Given the description of an element on the screen output the (x, y) to click on. 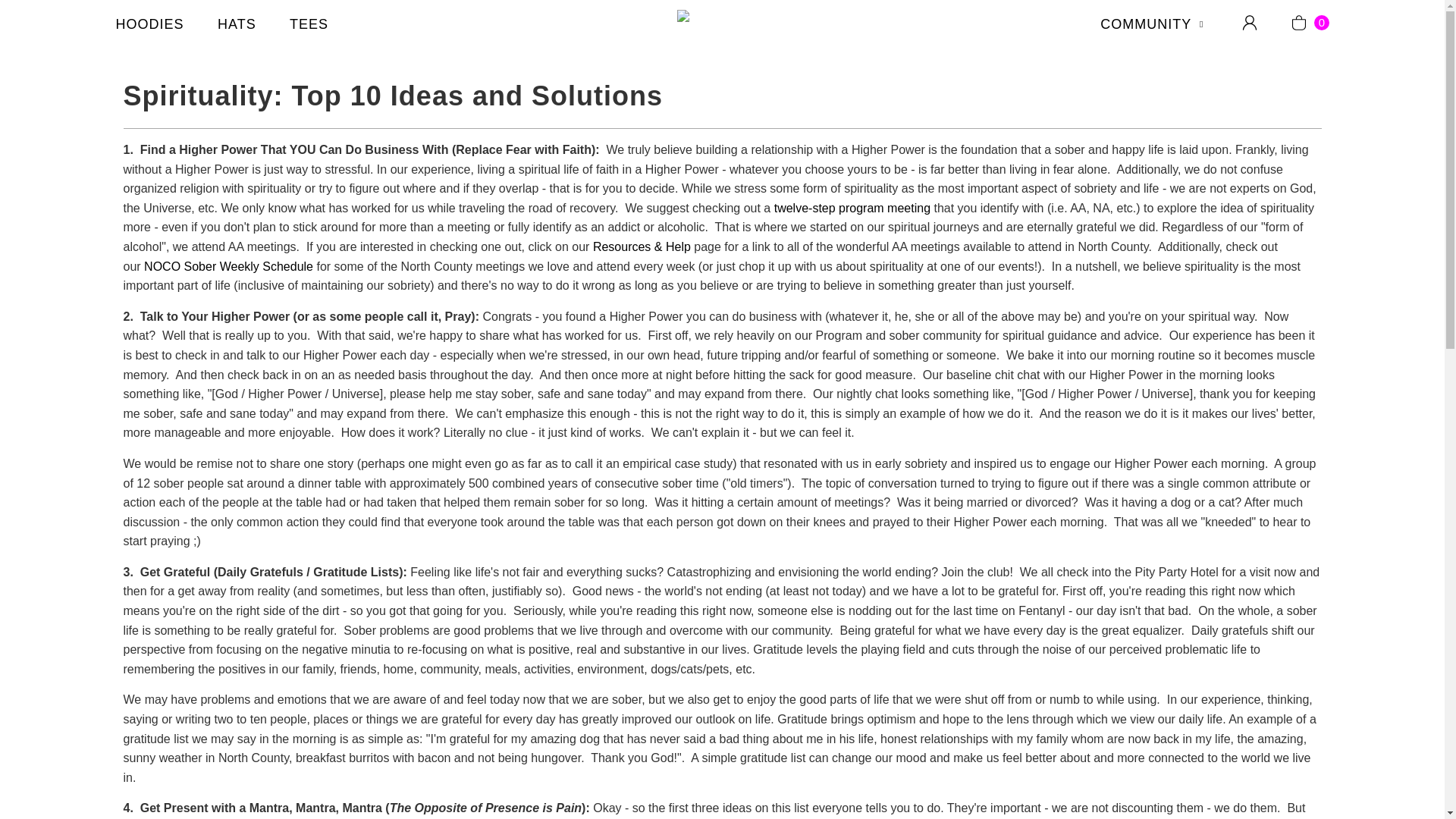
NOCO Sober (722, 24)
NOCO Sober Weekly Schedule (228, 266)
COMMUNITY (1154, 25)
0 (1308, 22)
twelve-step program meeting (852, 207)
My Account  (1249, 22)
TEES (309, 25)
HOODIES (149, 25)
HATS (236, 25)
